Given the description of an element on the screen output the (x, y) to click on. 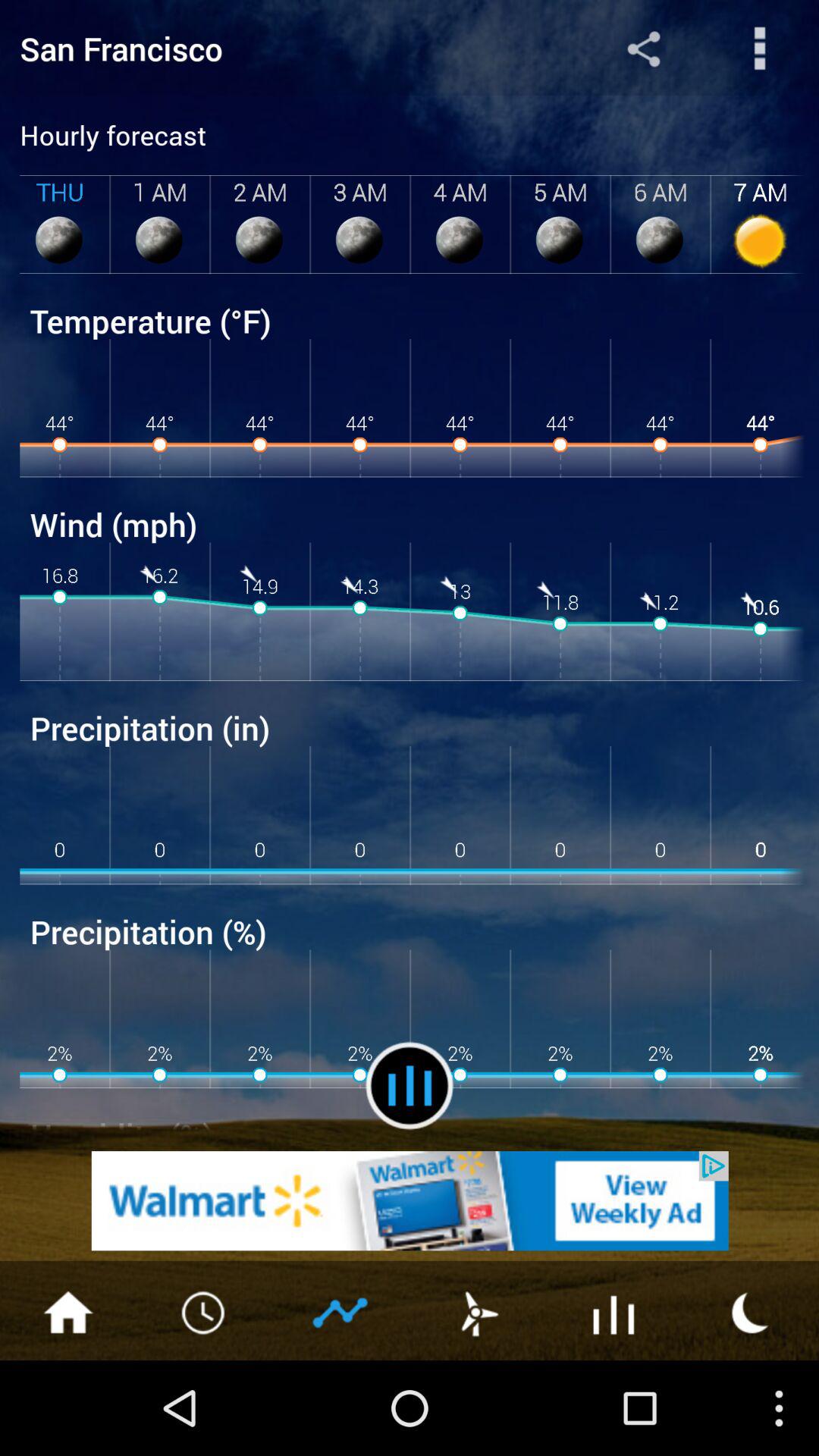
share the weather (643, 48)
